Given the description of an element on the screen output the (x, y) to click on. 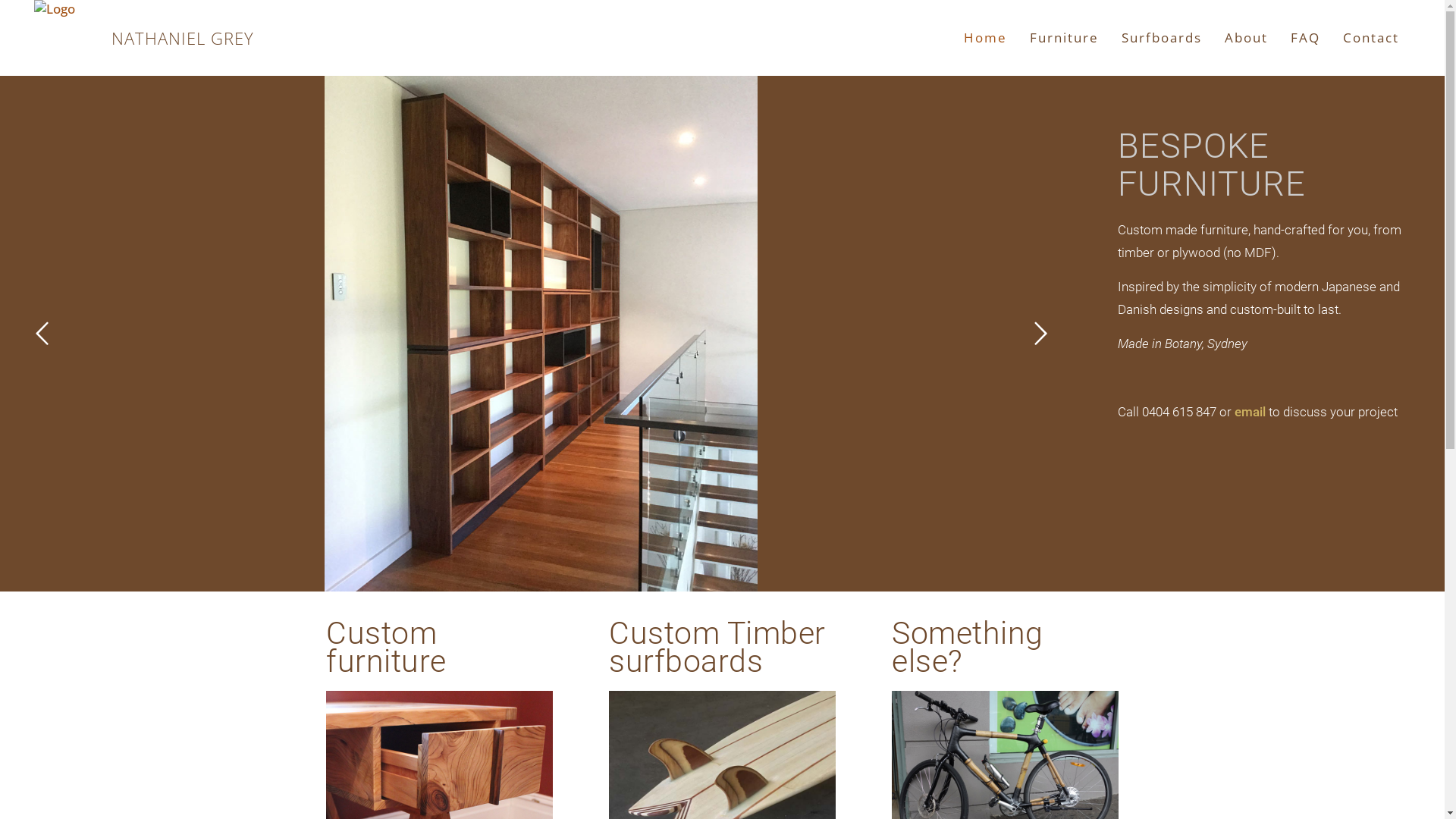
About Element type: text (1246, 37)
Home Element type: text (985, 37)
Contact Element type: text (1370, 37)
email Element type: text (1249, 411)
FAQ Element type: text (1305, 37)
Surfboards Element type: text (1161, 37)
Furniture Element type: text (1064, 37)
NATHANIEL GREY Element type: text (105, 75)
